Given the description of an element on the screen output the (x, y) to click on. 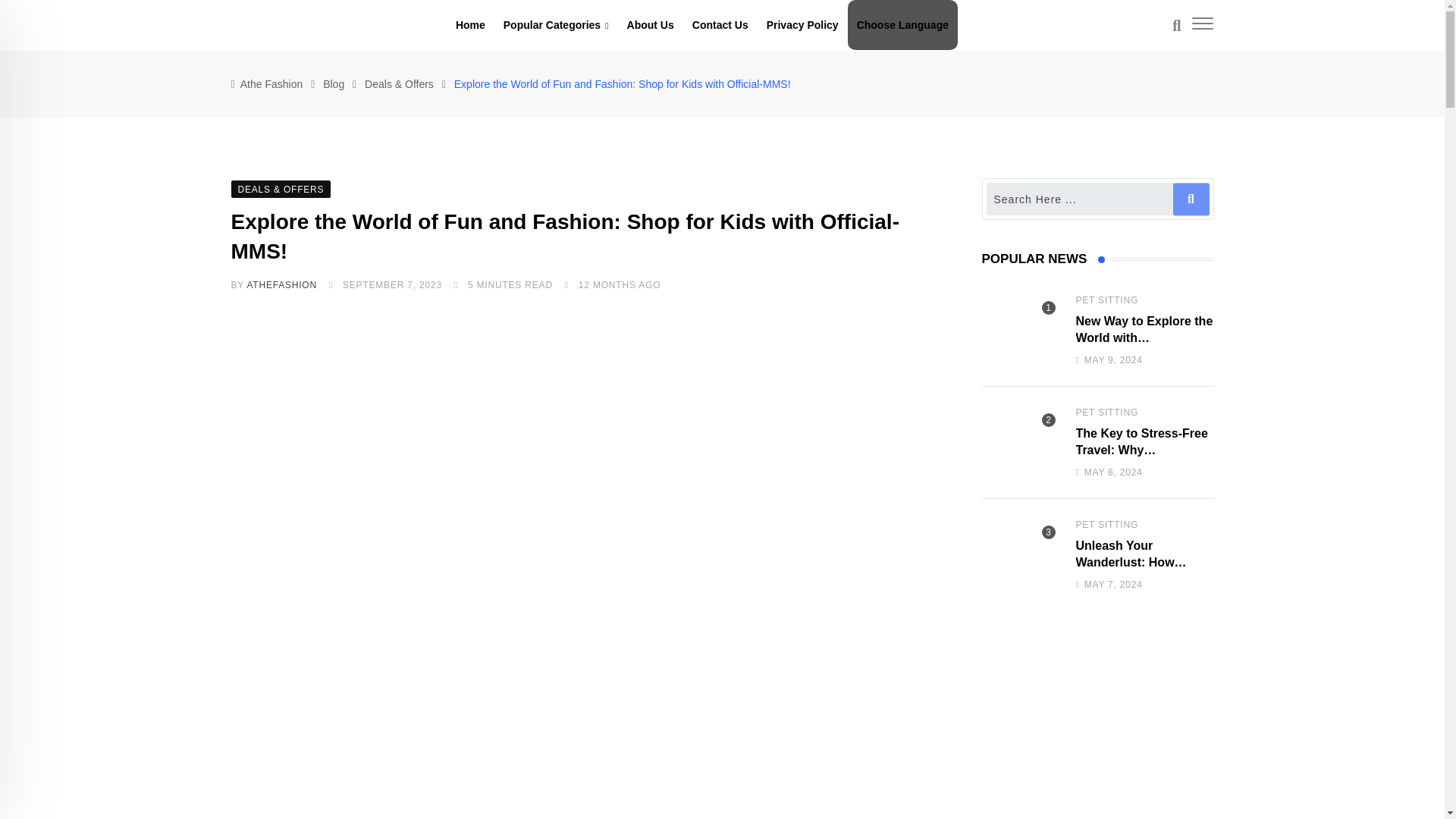
Posts by athefashion (281, 285)
Privacy Policy (802, 24)
Go to Blog. (333, 83)
Home (470, 24)
Choose Language (902, 24)
New Way to Explore the World with TrustedHousesitters (1019, 328)
Popular Categories (556, 25)
About Us (649, 24)
